Given the description of an element on the screen output the (x, y) to click on. 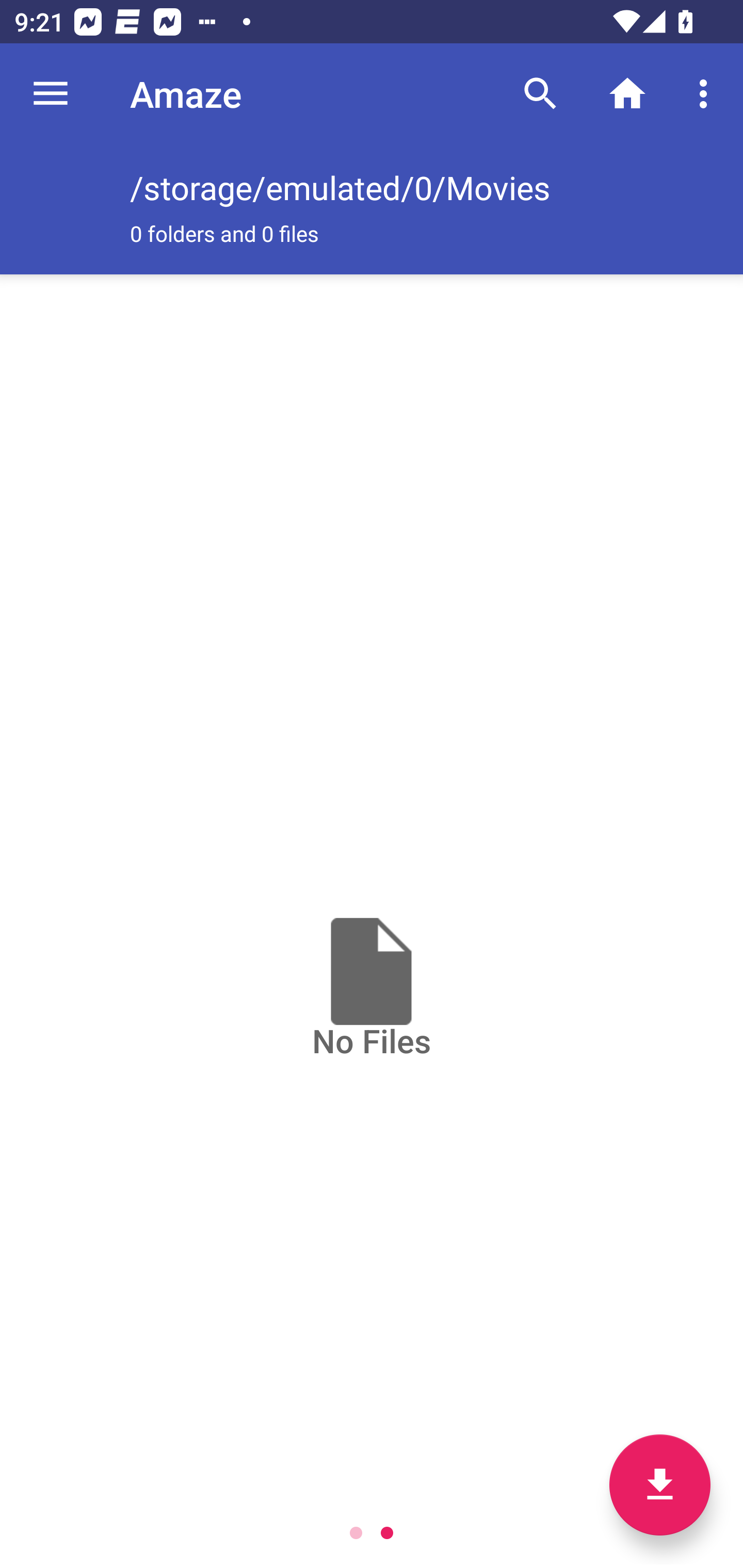
Navigate up (50, 93)
Search (540, 93)
Home (626, 93)
More options (706, 93)
